Given the description of an element on the screen output the (x, y) to click on. 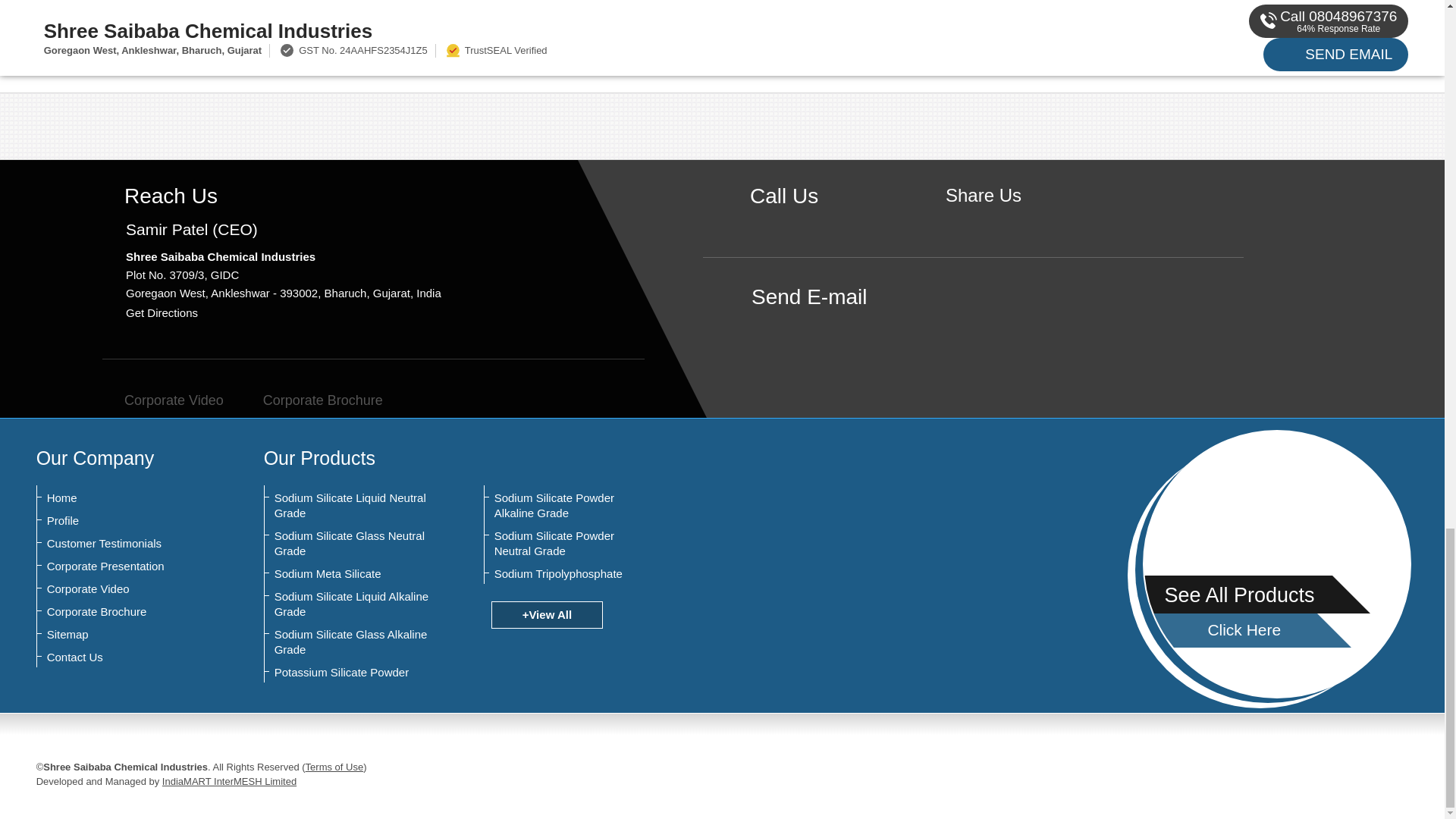
Corporate Video (162, 400)
Corporate Video (121, 589)
Facebook (983, 221)
Get Directions (161, 312)
Customer Testimonials (121, 543)
Home (121, 498)
Corporate Brochure (121, 611)
LinkedIn (1029, 221)
Twitter (1006, 221)
Profile (121, 520)
Corporate Brochure (311, 400)
Corporate Presentation (121, 566)
